Given the description of an element on the screen output the (x, y) to click on. 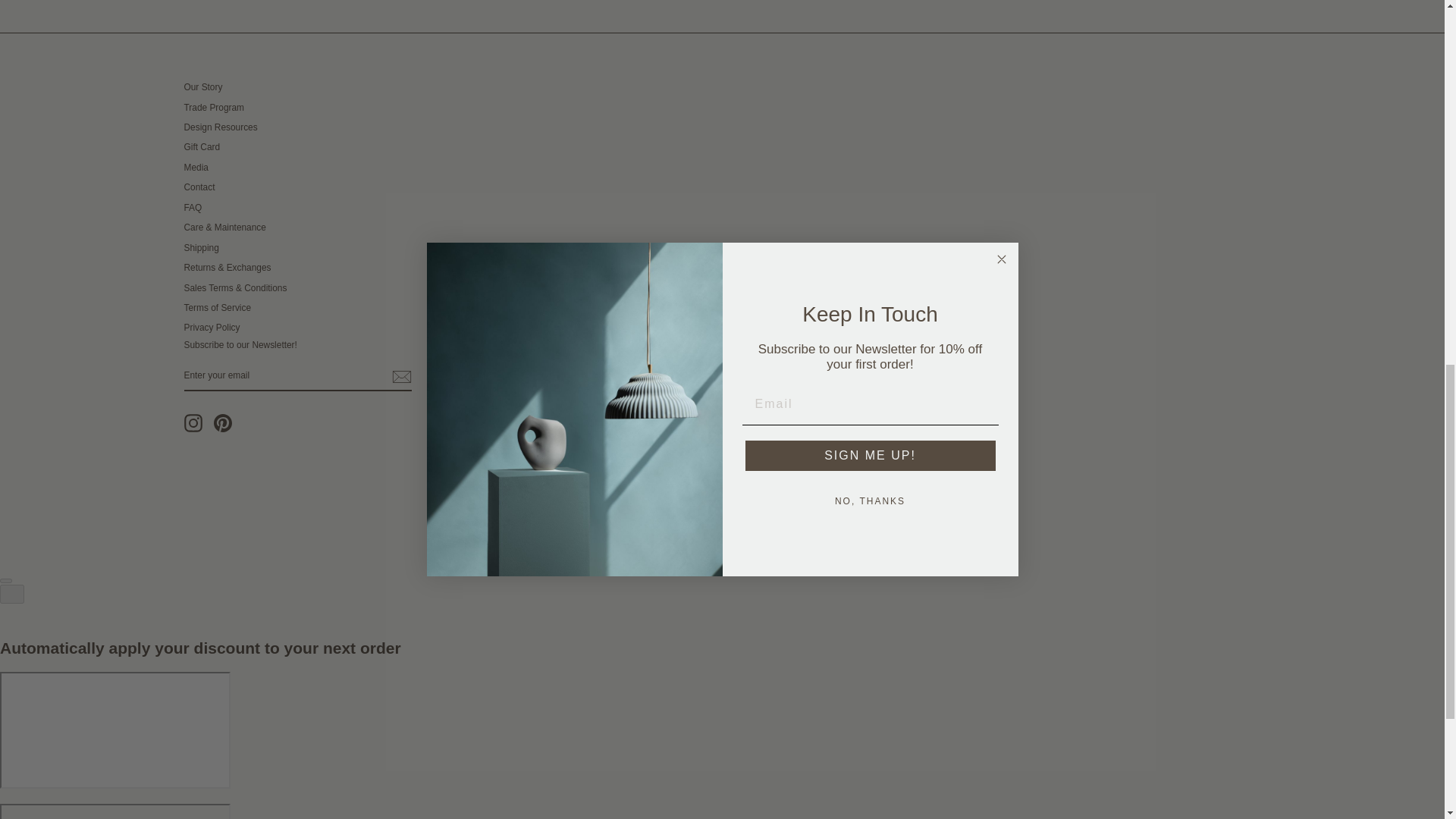
instagram (192, 423)
Casson on Instagram (192, 423)
icon-email (400, 376)
Casson on Pinterest (222, 423)
